Given the description of an element on the screen output the (x, y) to click on. 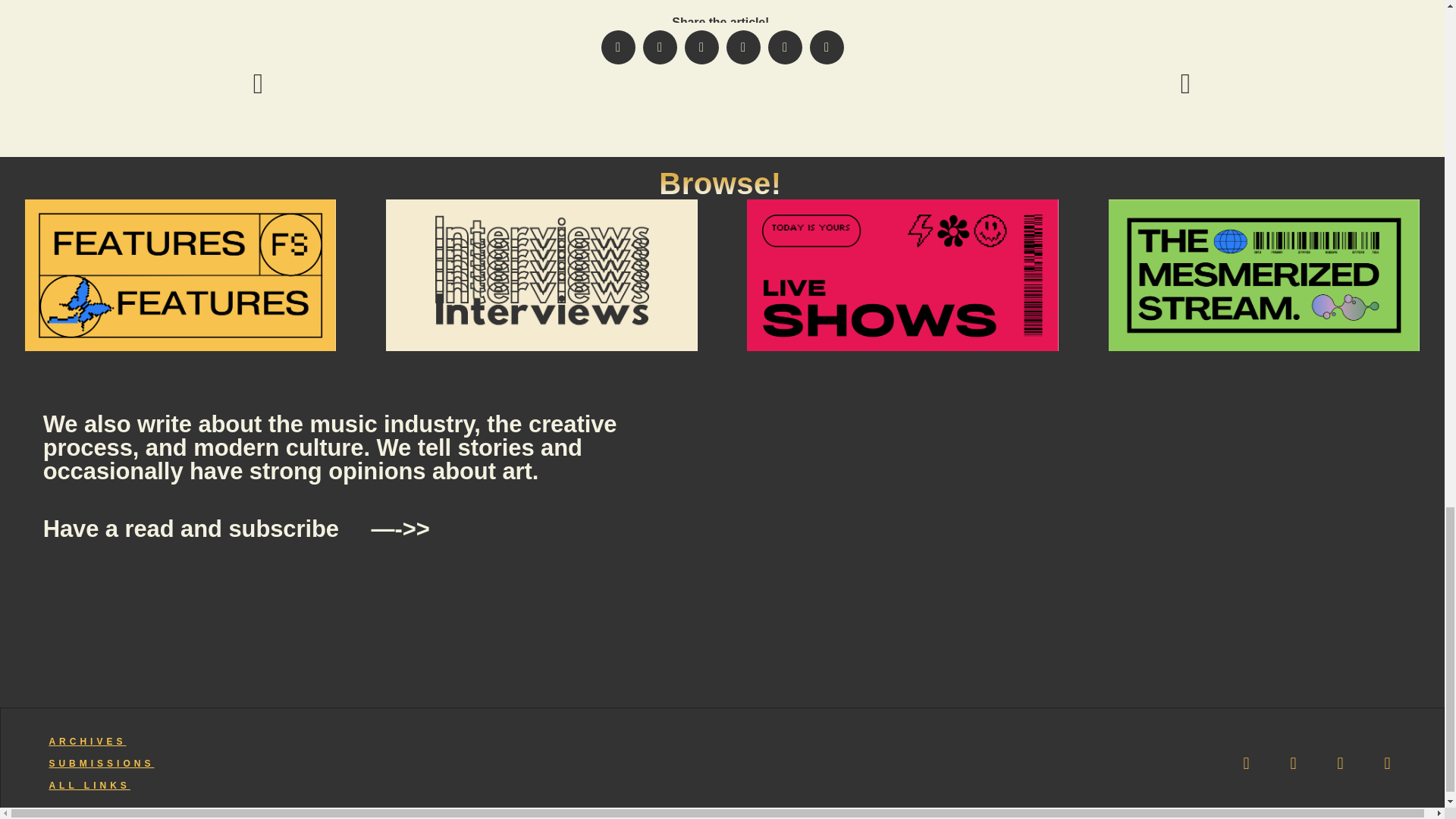
ALL LINKS (88, 785)
SUBMISSIONS (101, 763)
ARCHIVES (86, 741)
